Given the description of an element on the screen output the (x, y) to click on. 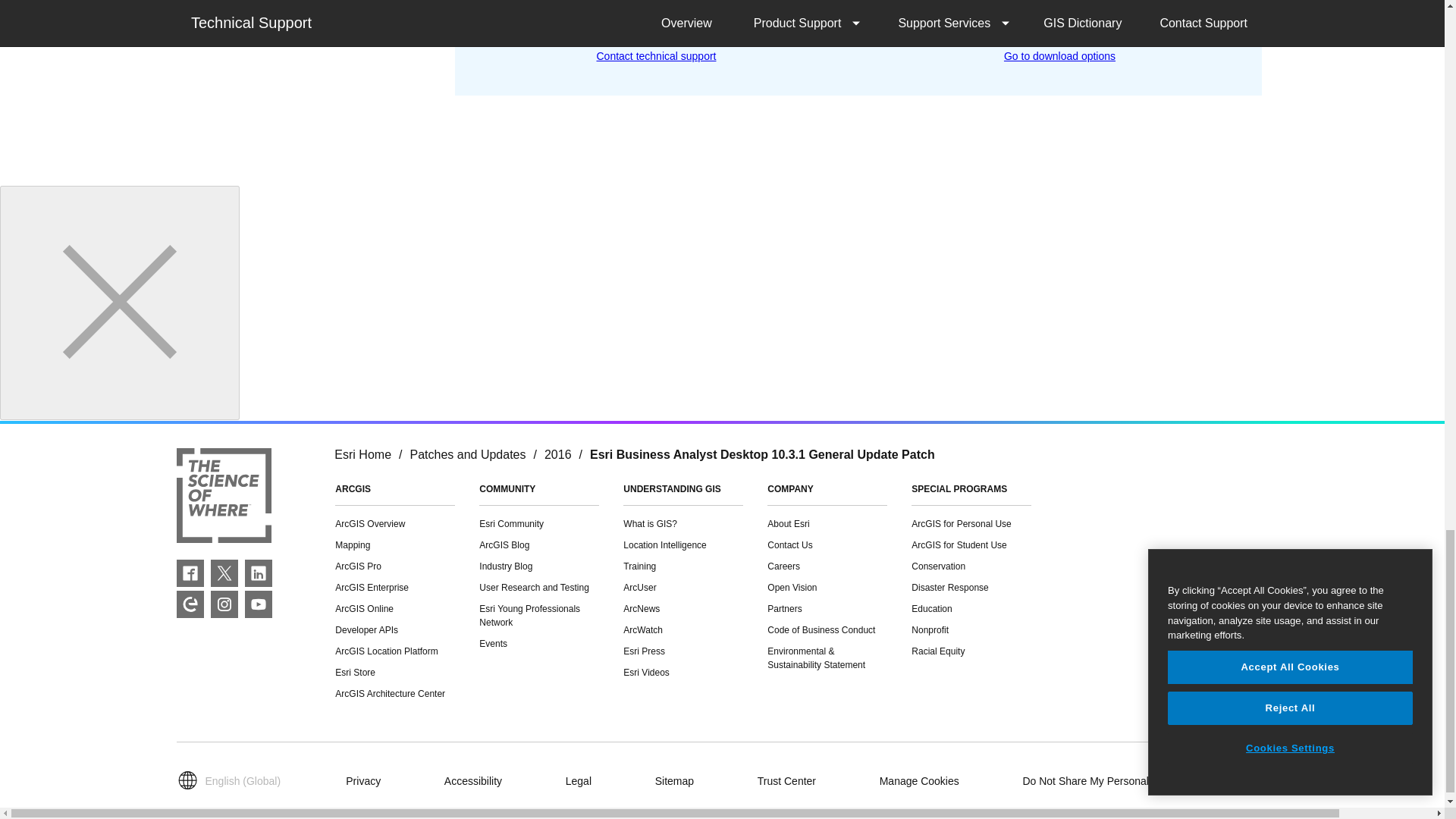
TwitterTwitter (224, 573)
More about Esri and the Science of Where (223, 497)
LinkedInLinkedIn (257, 573)
Instagram (224, 604)
Twitter (224, 573)
LinkedIn (257, 573)
InstagramInstagram (224, 604)
Esri CommunityEsri Community (189, 604)
FacebookFacebook (189, 573)
Facebook (189, 573)
Esri Community (189, 604)
